Given the description of an element on the screen output the (x, y) to click on. 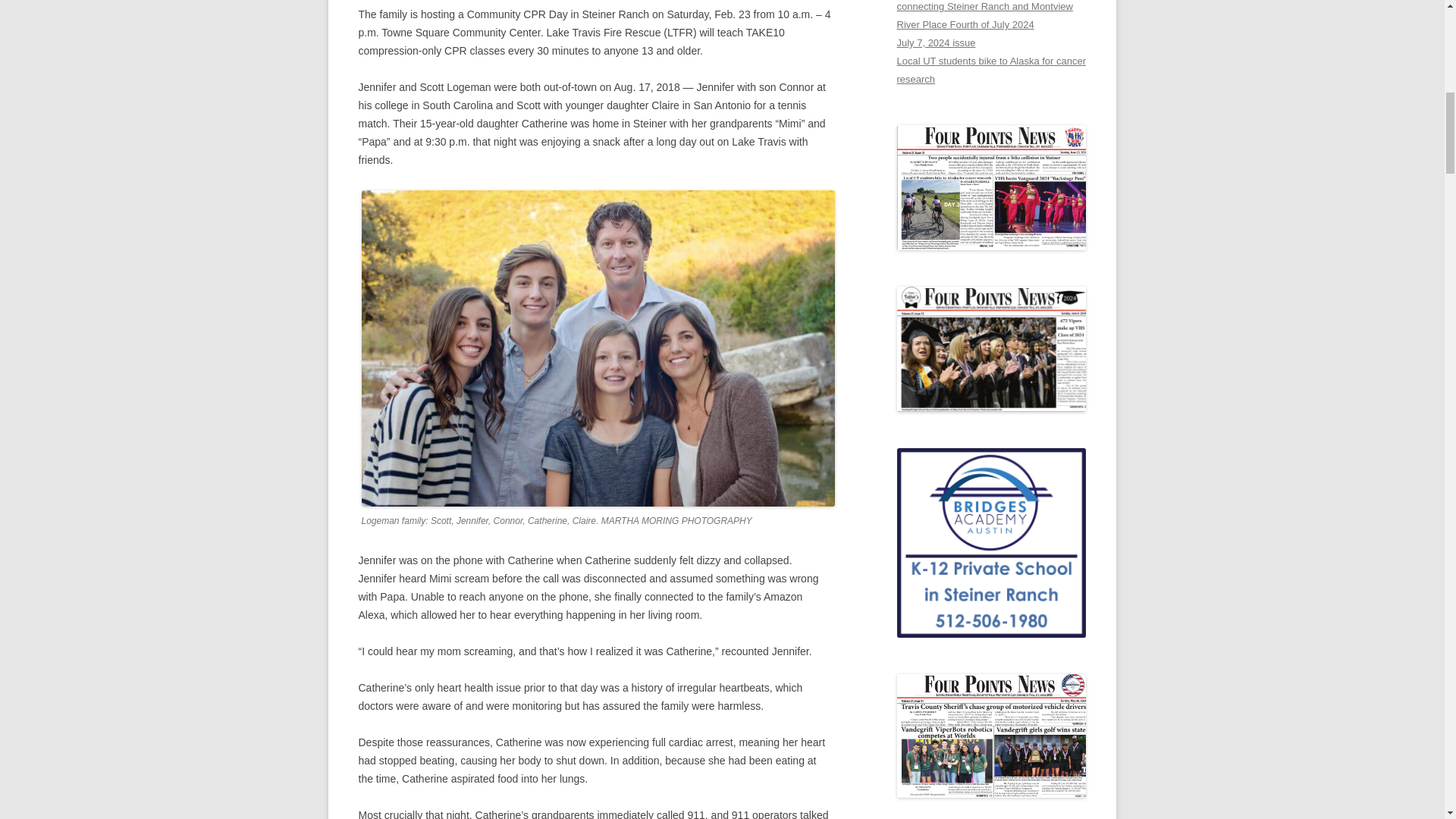
River Place Fourth of July 2024 (964, 24)
